Given the description of an element on the screen output the (x, y) to click on. 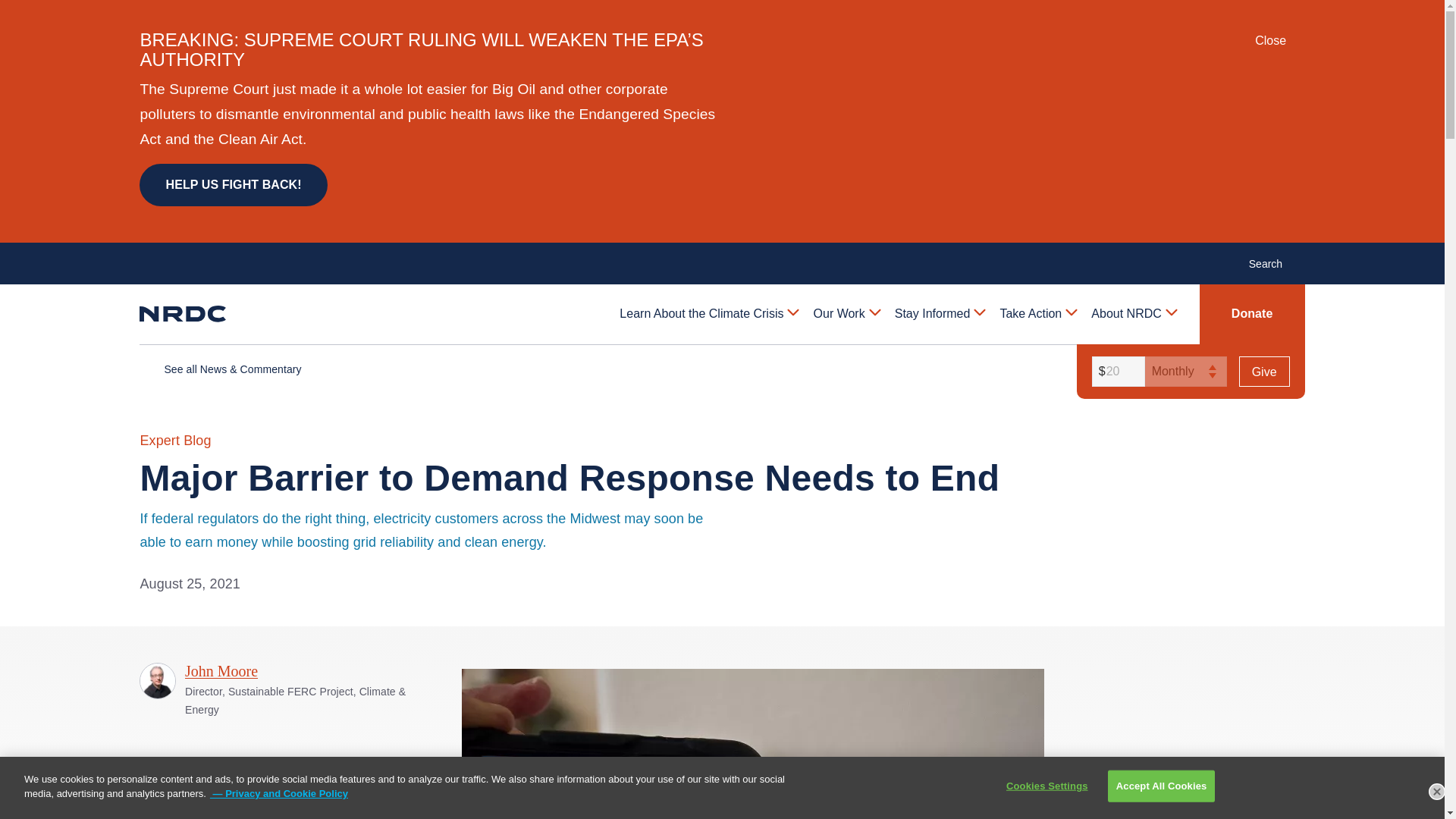
HELP US FIGHT BACK! (232, 184)
Share this page block (180, 809)
Skip to main content (721, 12)
Learn About the Climate Crisis (707, 313)
Stay Informed (939, 313)
Share this page block (149, 809)
Search (1273, 262)
Our Work (846, 313)
2024-06 SCOTUS (1298, 39)
20 (1116, 371)
Share this page block (210, 809)
Close 2024-06 SCOTUS (1279, 40)
